Given the description of an element on the screen output the (x, y) to click on. 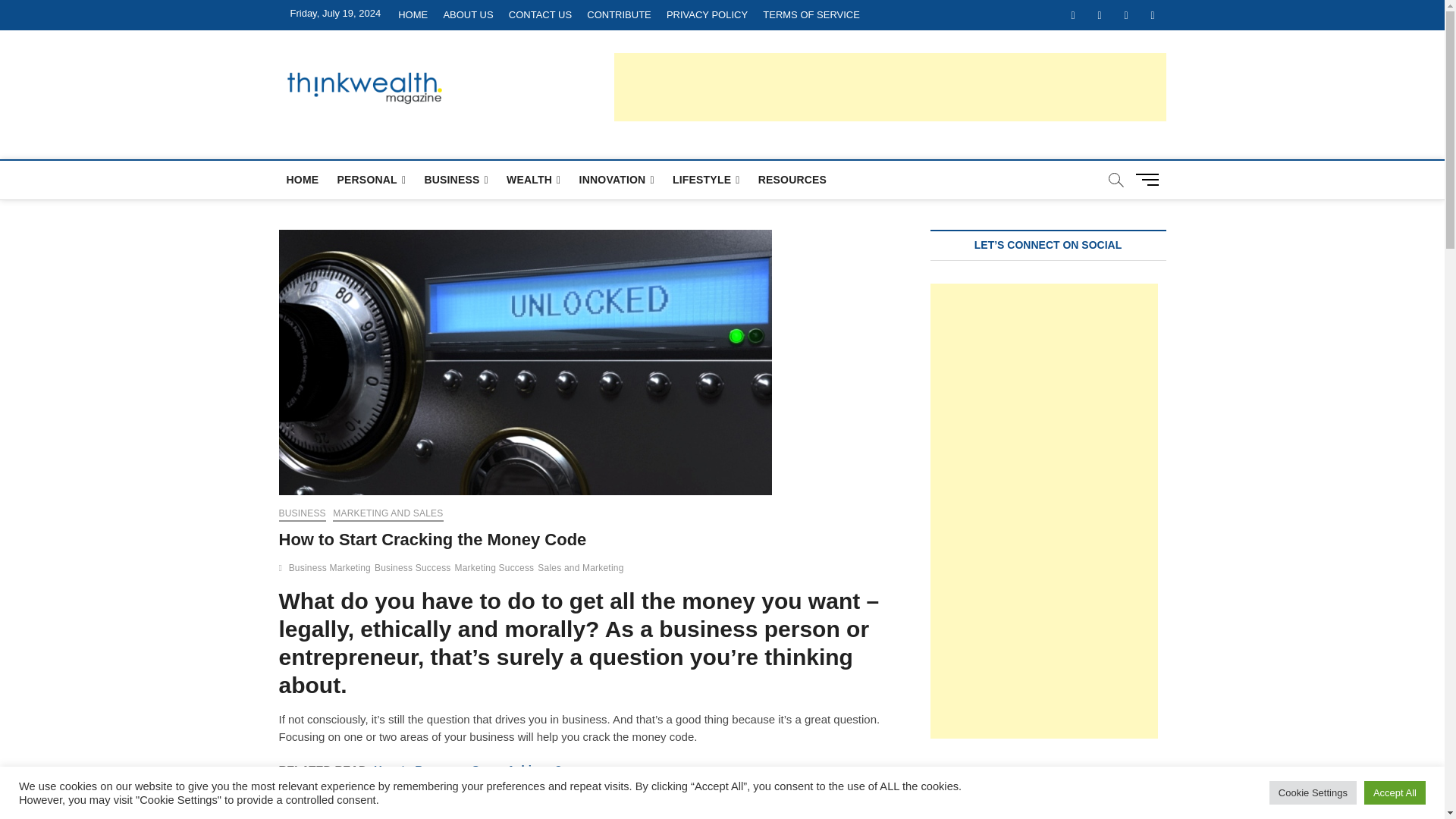
LIFESTYLE (706, 179)
Advertisement (890, 87)
PRIVACY POLICY (707, 15)
RESOURCES (792, 179)
CONTRIBUTE (619, 15)
Advertisement (1043, 510)
HOME (412, 15)
BUSINESS (456, 179)
WEALTH (533, 179)
HOME (302, 179)
CONTACT US (540, 15)
Thinkwealth Magazine (583, 80)
Thinkwealth Magazine (583, 80)
PERSONAL (371, 179)
INNOVATION (617, 179)
